Given the description of an element on the screen output the (x, y) to click on. 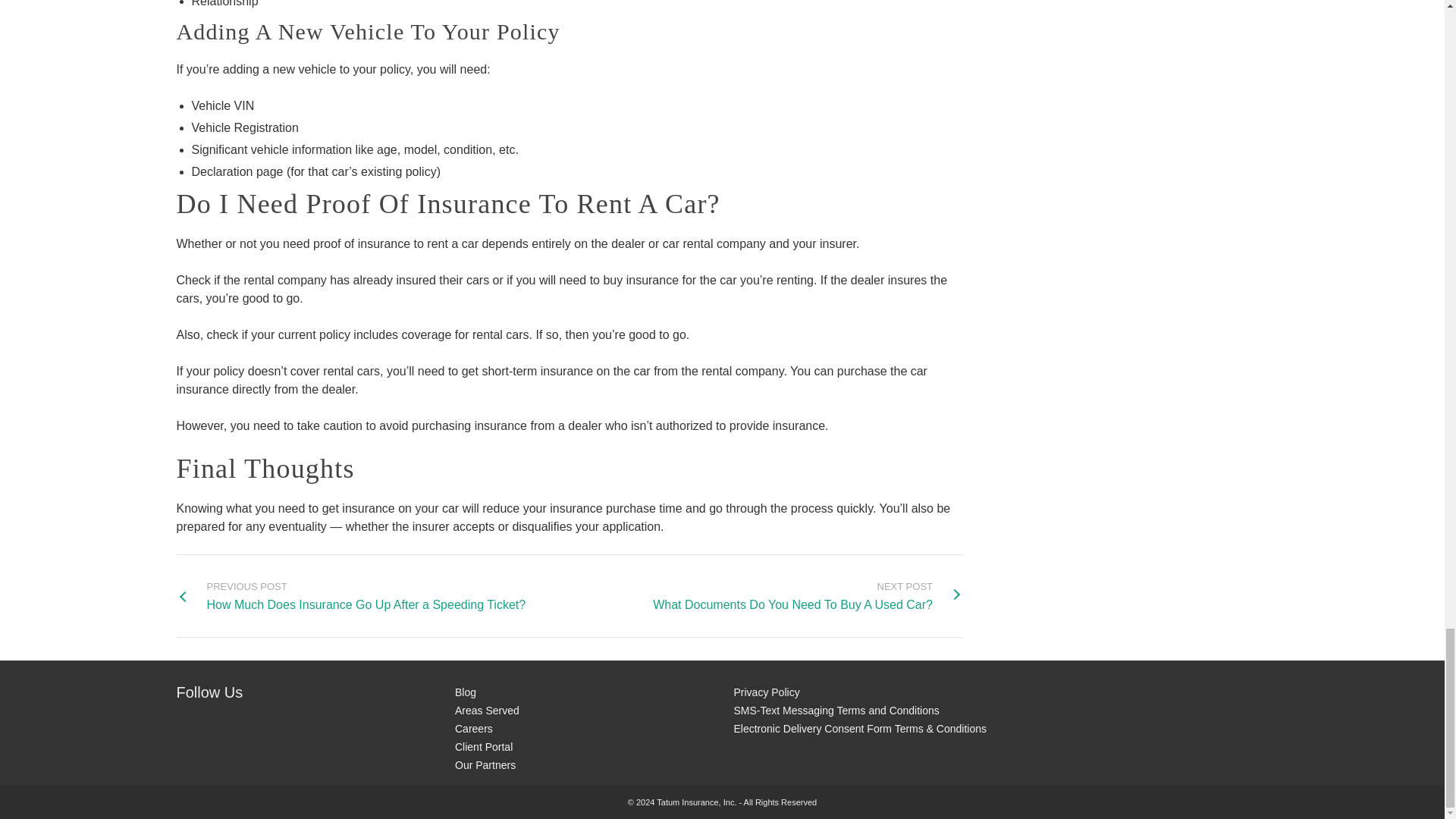
Blog (807, 596)
